Given the description of an element on the screen output the (x, y) to click on. 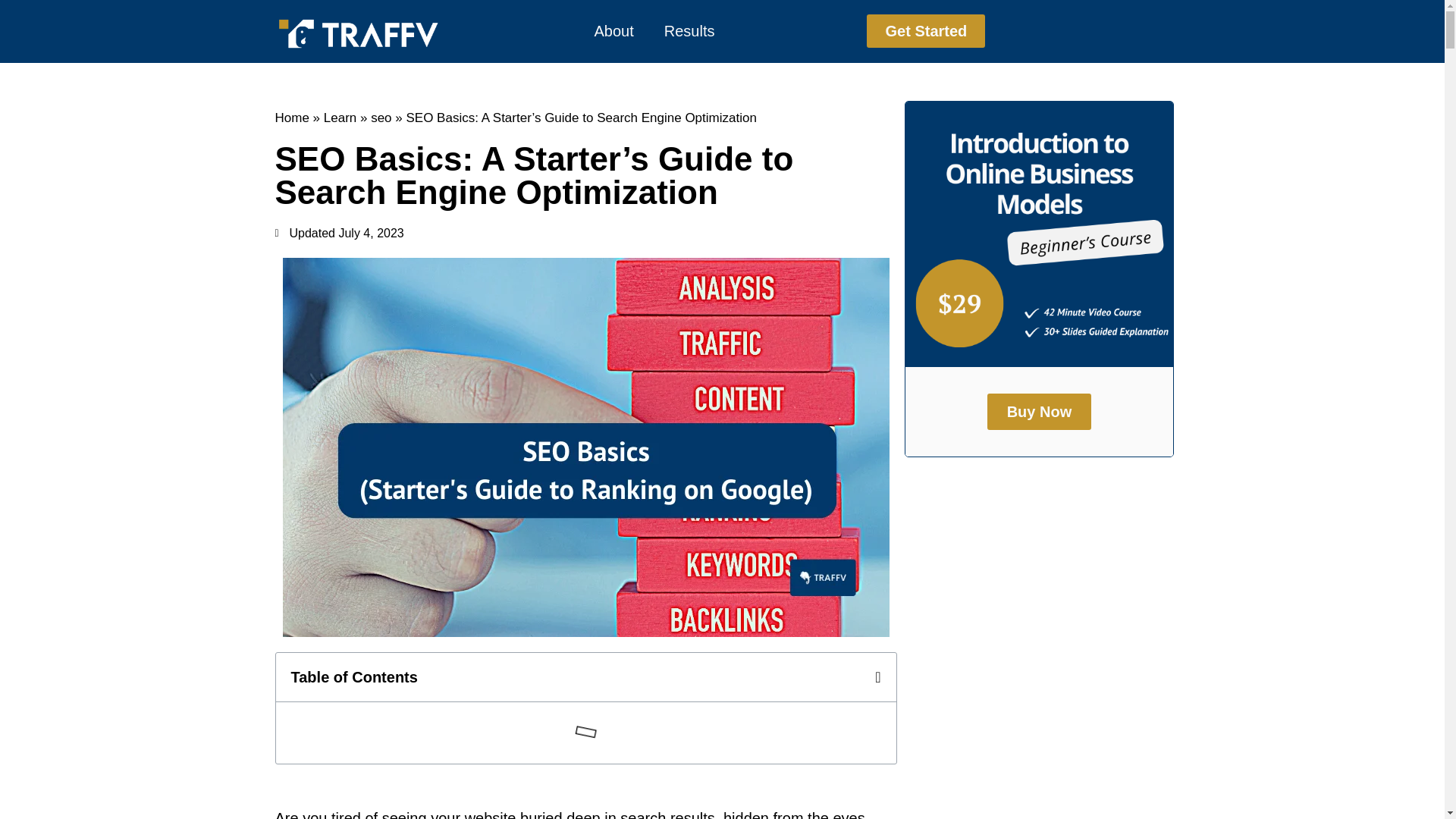
About (614, 30)
Results (689, 30)
seo (381, 117)
Learn (339, 117)
Home (291, 117)
Buy Now (1039, 411)
Get Started (925, 30)
